Given the description of an element on the screen output the (x, y) to click on. 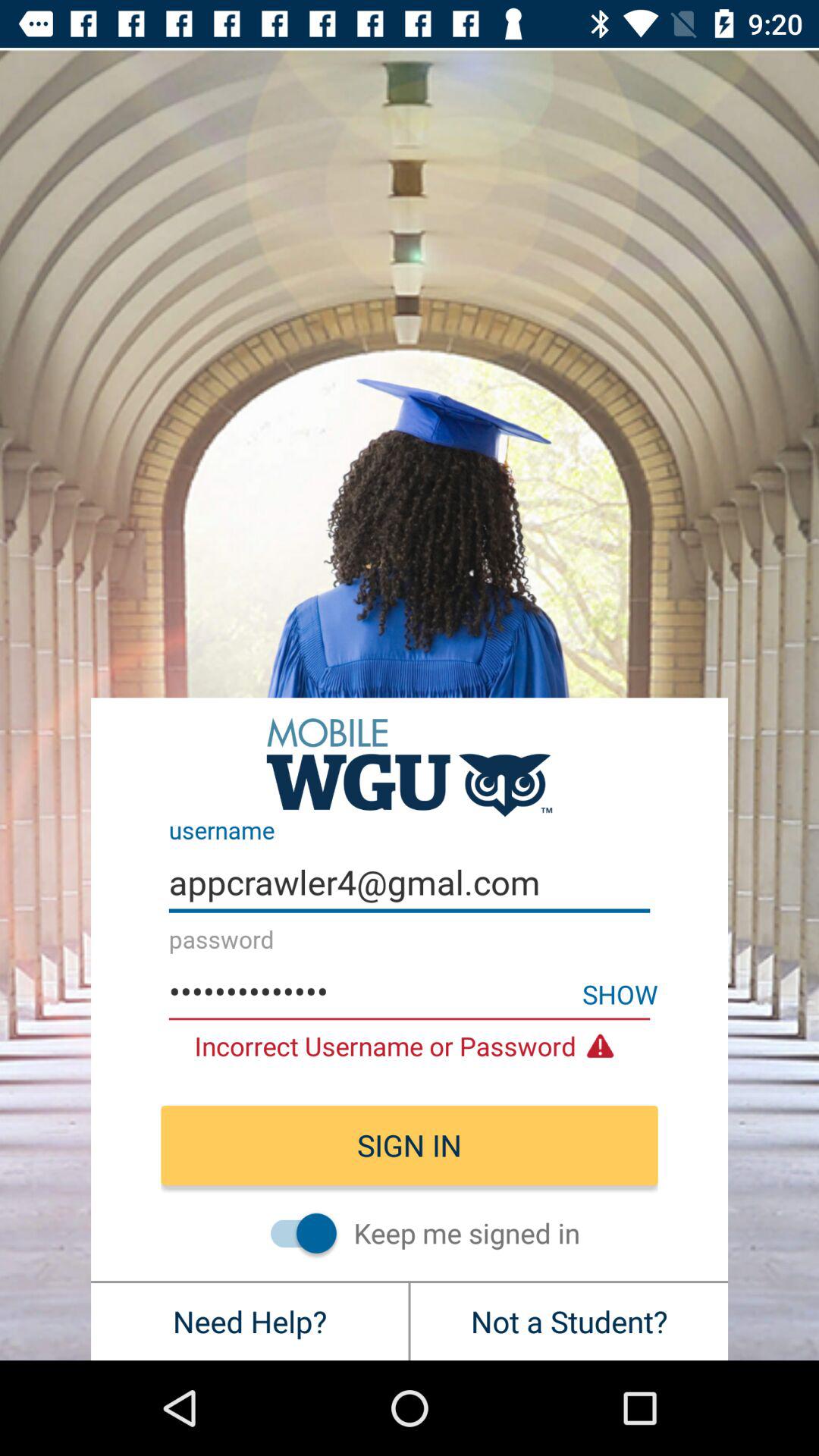
select the appcrawler4@gmal.com icon (409, 882)
